Given the description of an element on the screen output the (x, y) to click on. 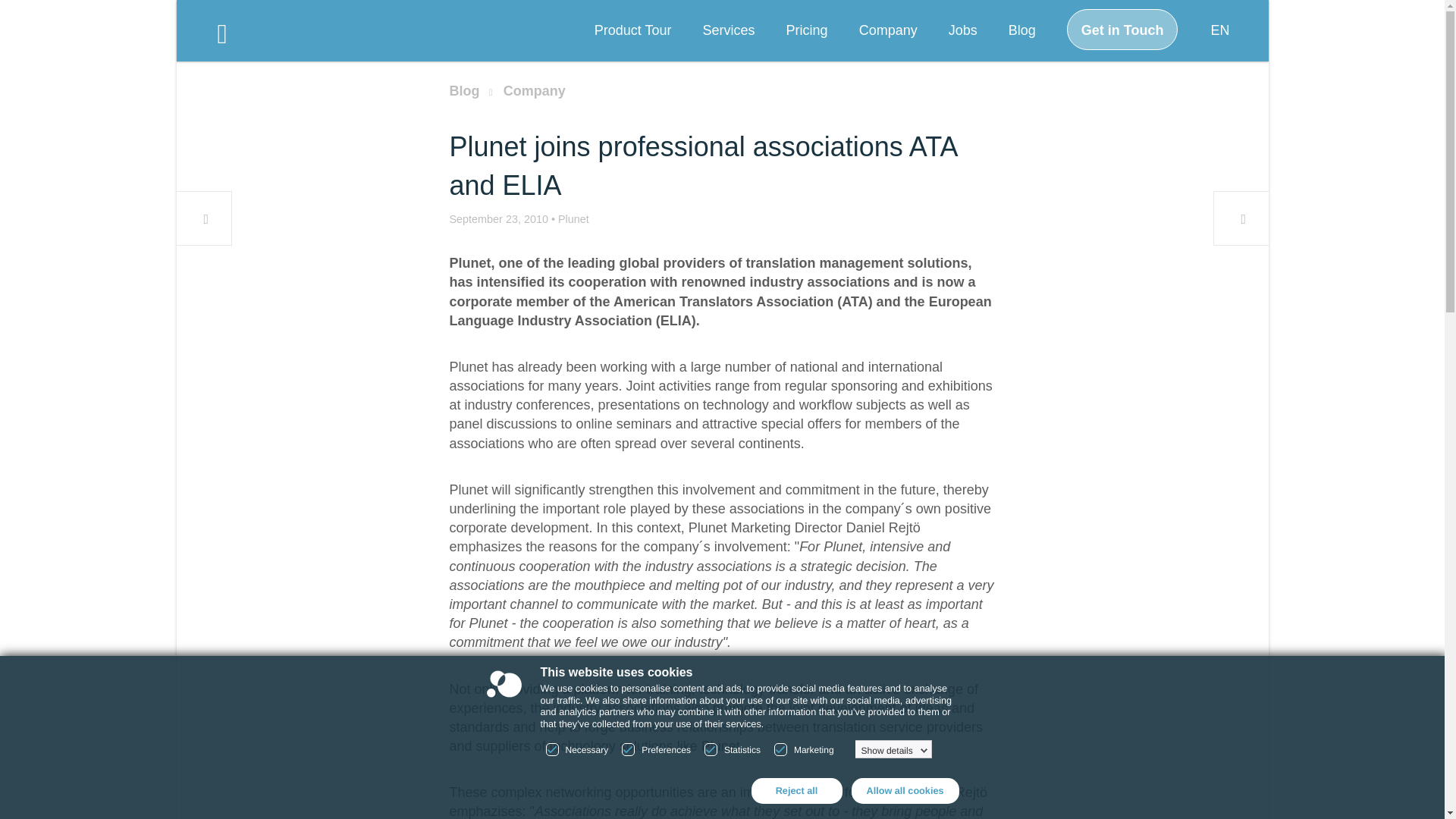
Reject all (796, 790)
Allow all cookies (904, 790)
Show details (895, 750)
